Given the description of an element on the screen output the (x, y) to click on. 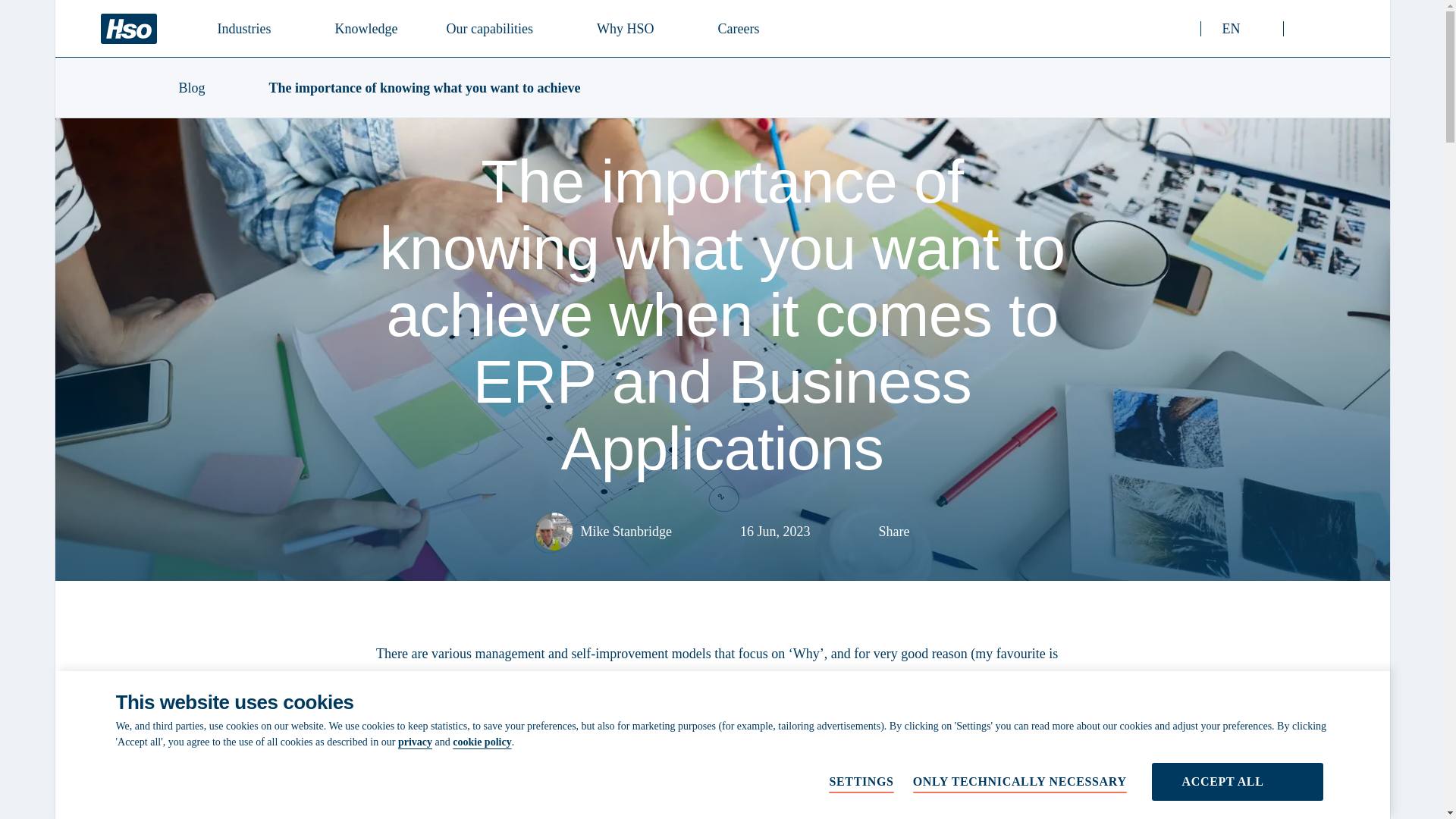
Industries (251, 27)
Privacy Policy (414, 741)
Logo (127, 28)
Cookie Policy (495, 27)
